Given the description of an element on the screen output the (x, y) to click on. 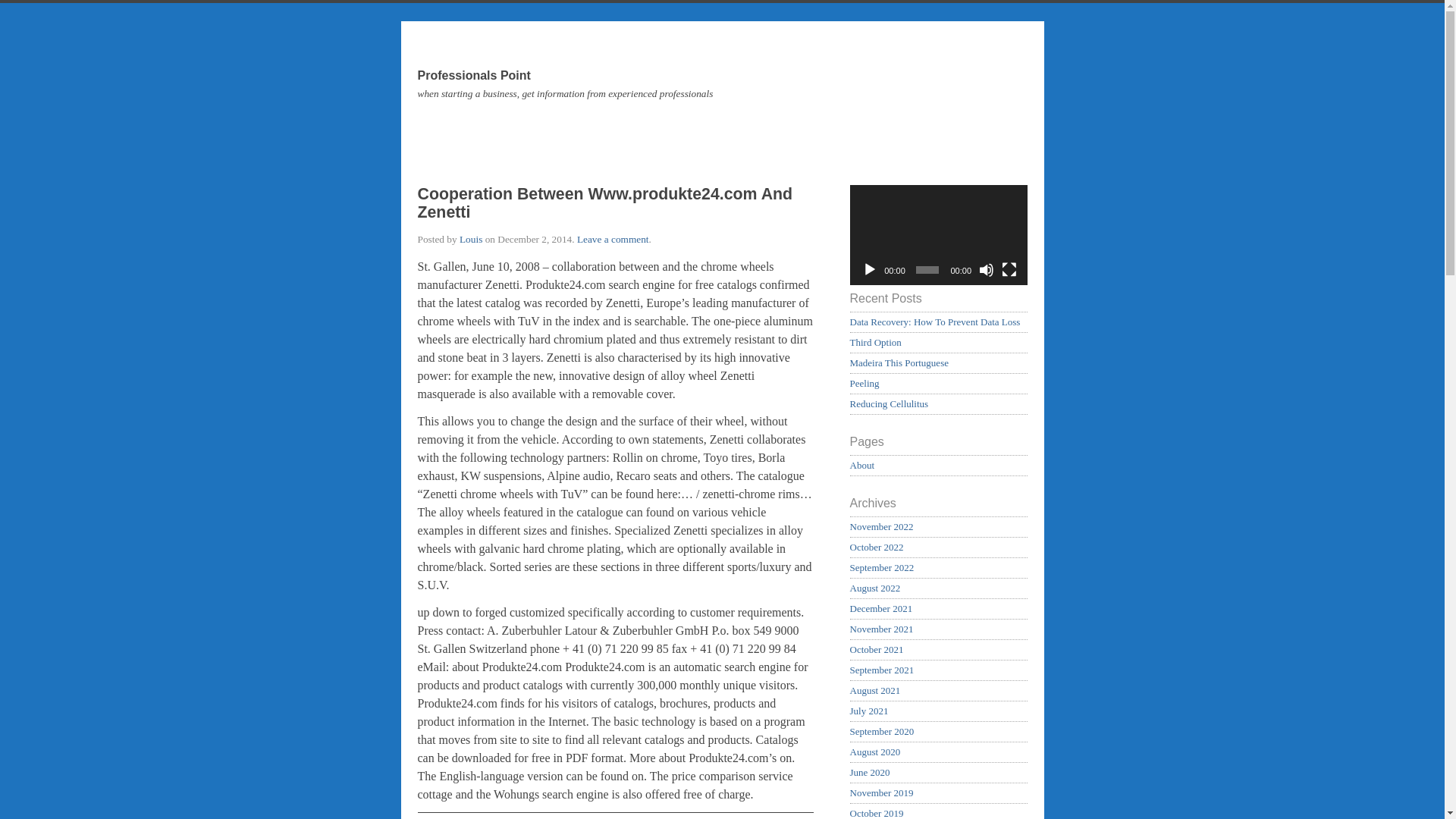
Data Recovery: How To Prevent Data Loss (934, 321)
Reducing Cellulitus (888, 403)
November 2021 (880, 628)
Play (868, 269)
August 2022 (873, 587)
October 2019 (875, 813)
Louis (470, 238)
September 2021 (881, 669)
October 2022 (875, 546)
Peeling (863, 383)
August 2020 (873, 751)
September 2020 (881, 731)
Fullscreen (1008, 269)
Go to home page (721, 103)
Madeira This Portuguese (897, 362)
